Given the description of an element on the screen output the (x, y) to click on. 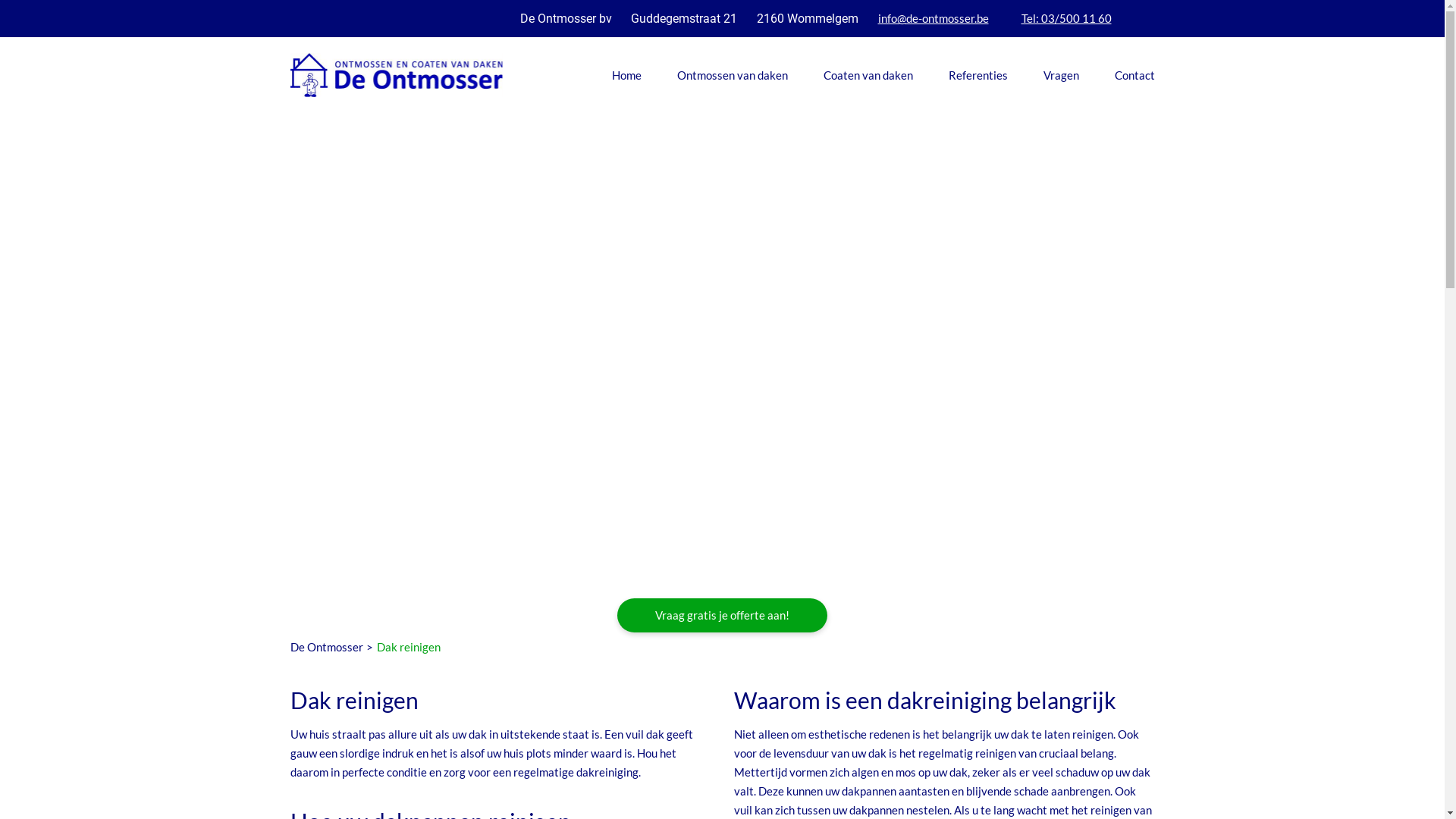
De Ontmosser Element type: text (325, 646)
Vragen Element type: text (1061, 74)
Tel: 03/500 11 60 Element type: text (1065, 18)
Vraag gratis je offerte aan! Element type: text (722, 615)
Home Element type: text (625, 74)
info@de-ontmosser.be Element type: text (933, 18)
Referenties Element type: text (977, 74)
Contact Element type: text (1134, 74)
Ontmossen van daken Element type: text (731, 74)
Coaten van daken Element type: text (868, 74)
